Given the description of an element on the screen output the (x, y) to click on. 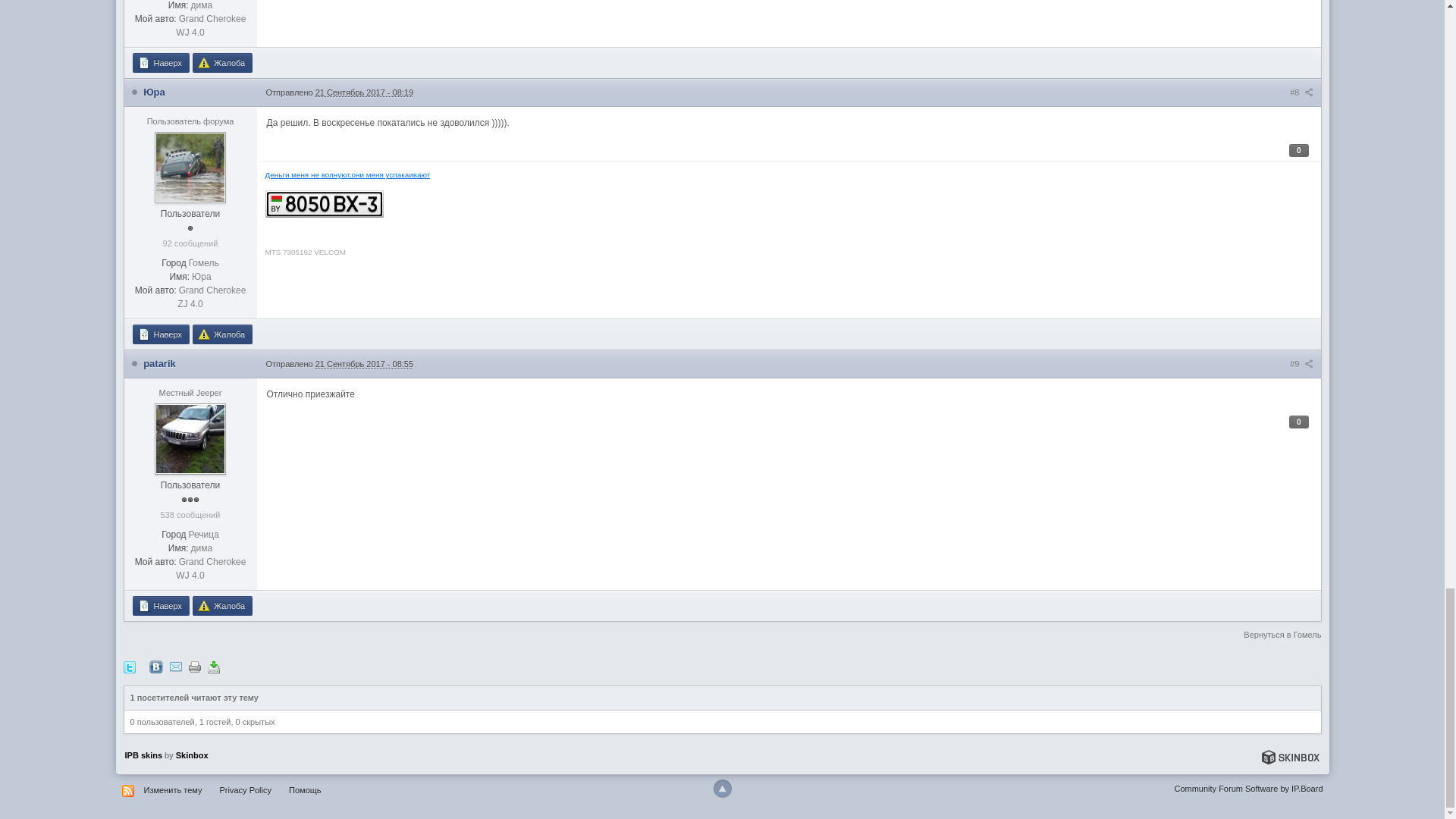
More Element type: text (738, 176)
patarik Element type: text (159, 621)
#2 Element type: text (1300, 622)
patarik Element type: text (159, 350)
JEEP-CLUB.BY Element type: text (156, 208)
patarik Element type: text (234, 261)
#1 Element type: text (1300, 350)
Color Picker Element type: hover (1307, 174)
